Given the description of an element on the screen output the (x, y) to click on. 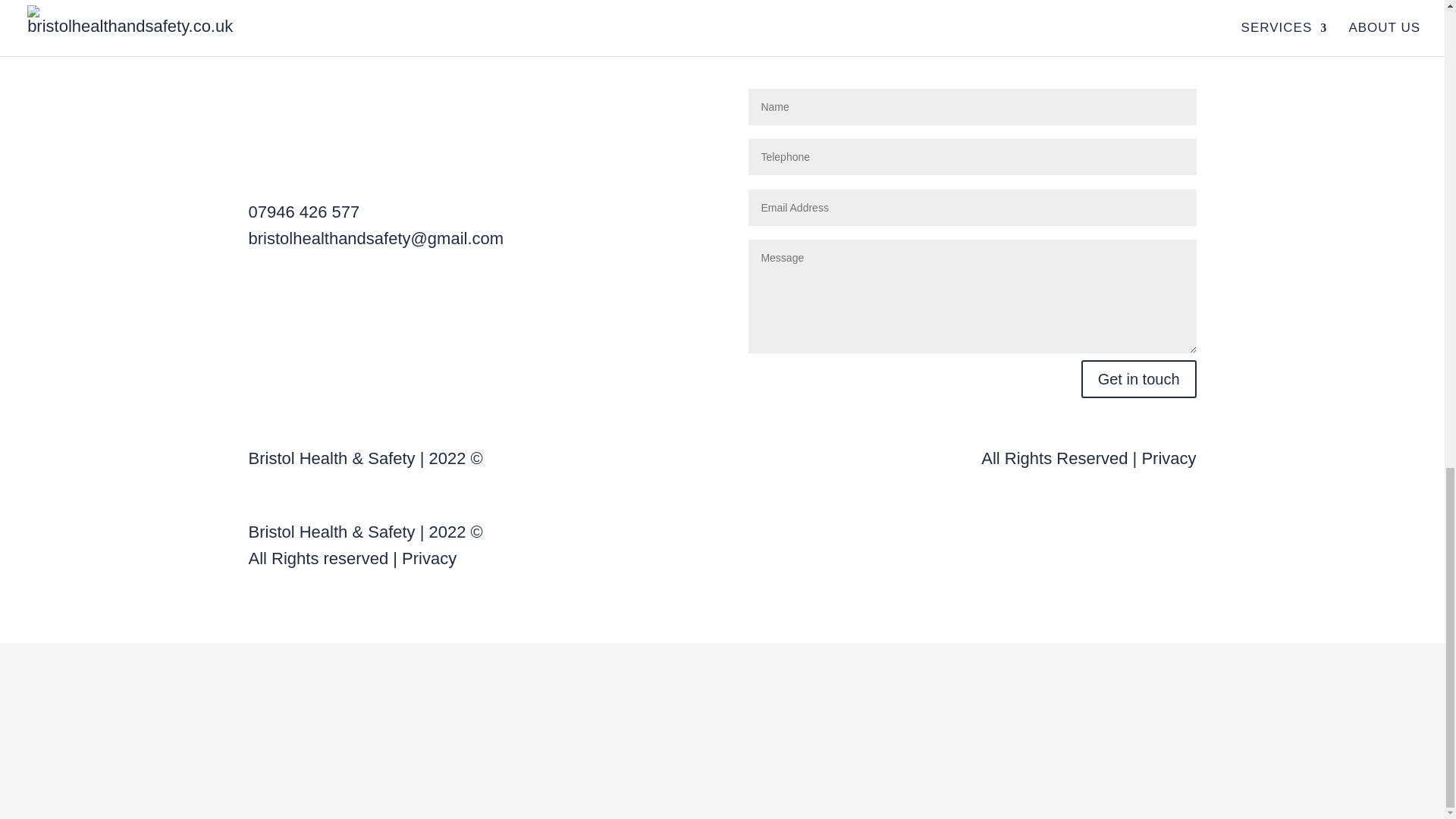
Get in touch (1138, 379)
Privacy (429, 558)
Privacy (1168, 457)
